Given the description of an element on the screen output the (x, y) to click on. 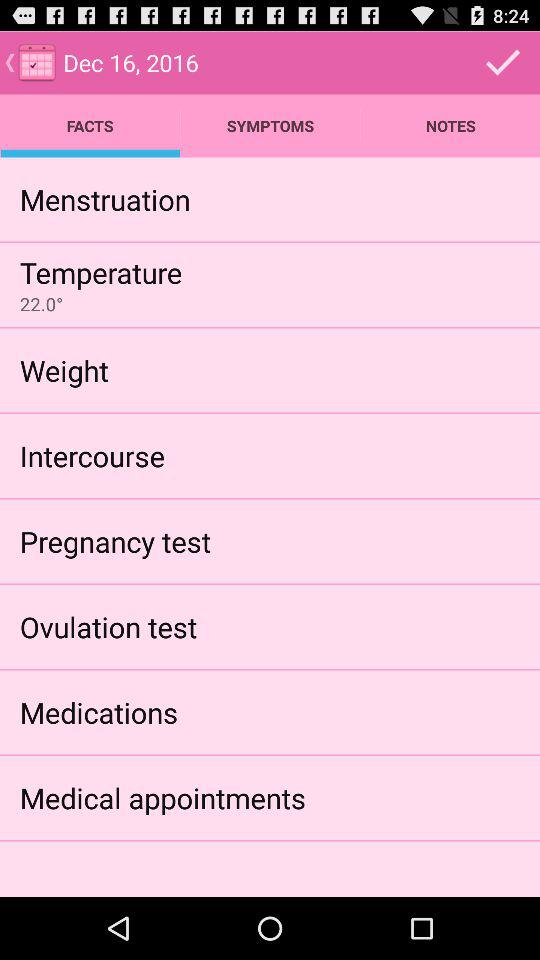
press app below weight icon (91, 455)
